Given the description of an element on the screen output the (x, y) to click on. 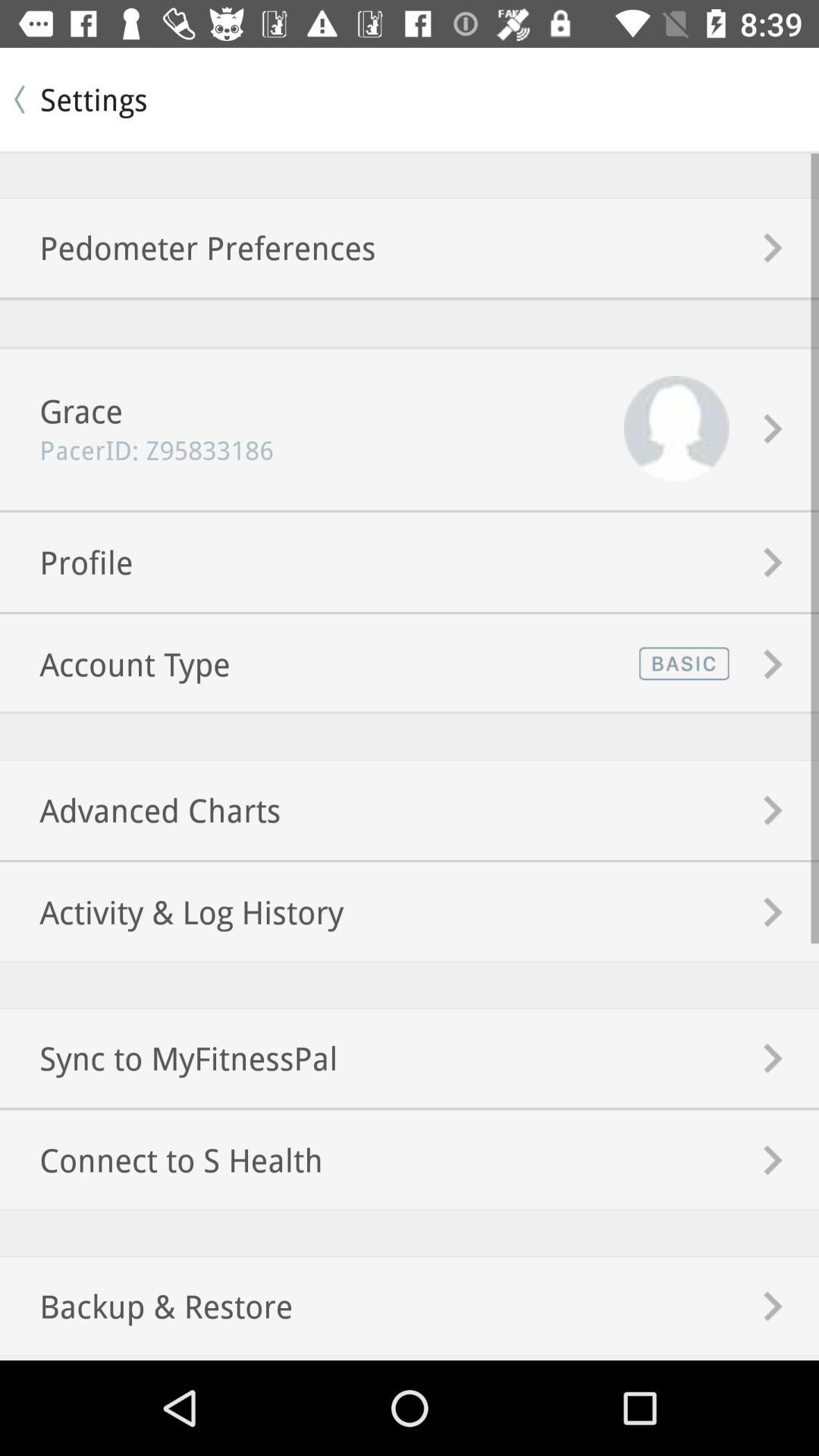
turn on the account type item (115, 663)
